Given the description of an element on the screen output the (x, y) to click on. 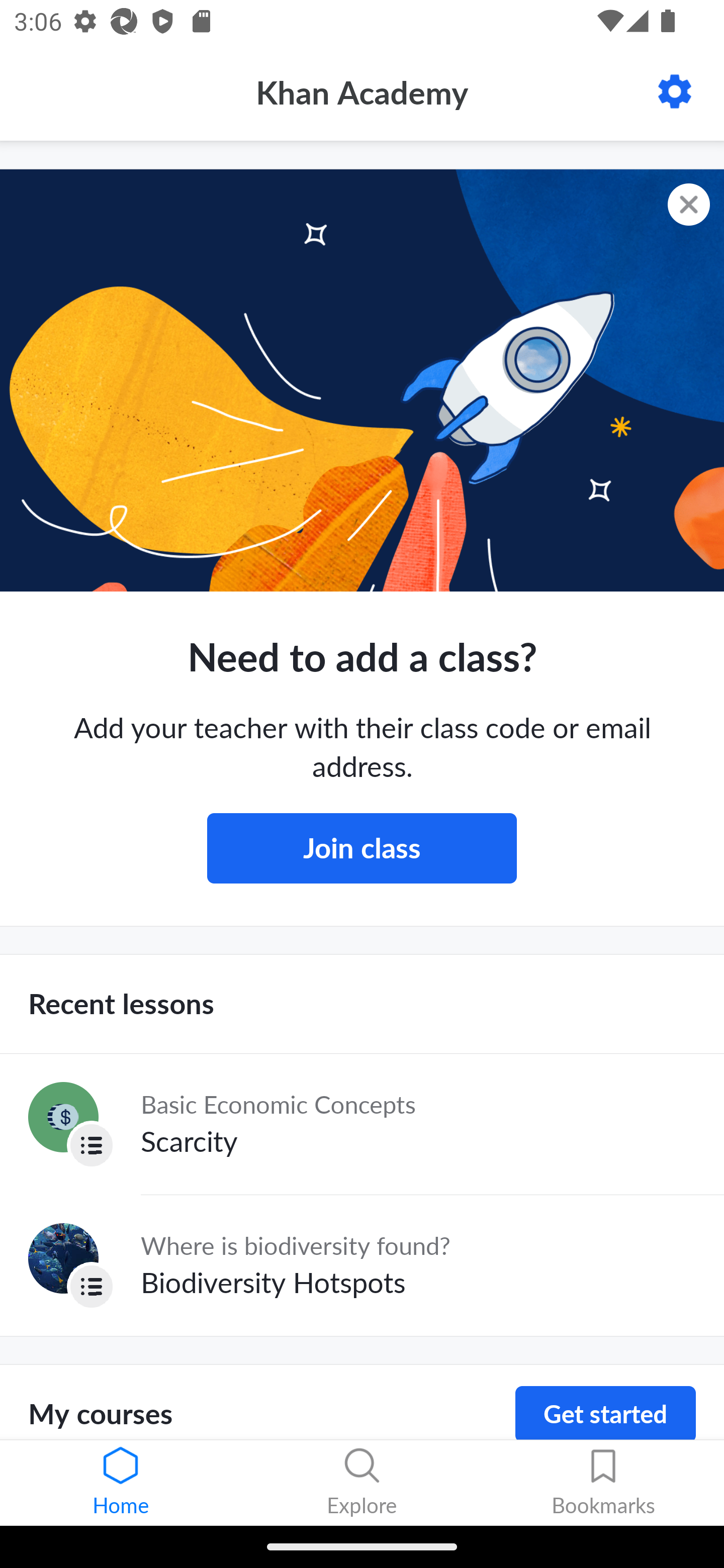
Settings (674, 91)
Dismiss (688, 204)
Join class (361, 847)
Lesson Basic Economic Concepts Scarcity (362, 1123)
Get started (605, 1412)
Home (120, 1482)
Explore (361, 1482)
Bookmarks (603, 1482)
